Given the description of an element on the screen output the (x, y) to click on. 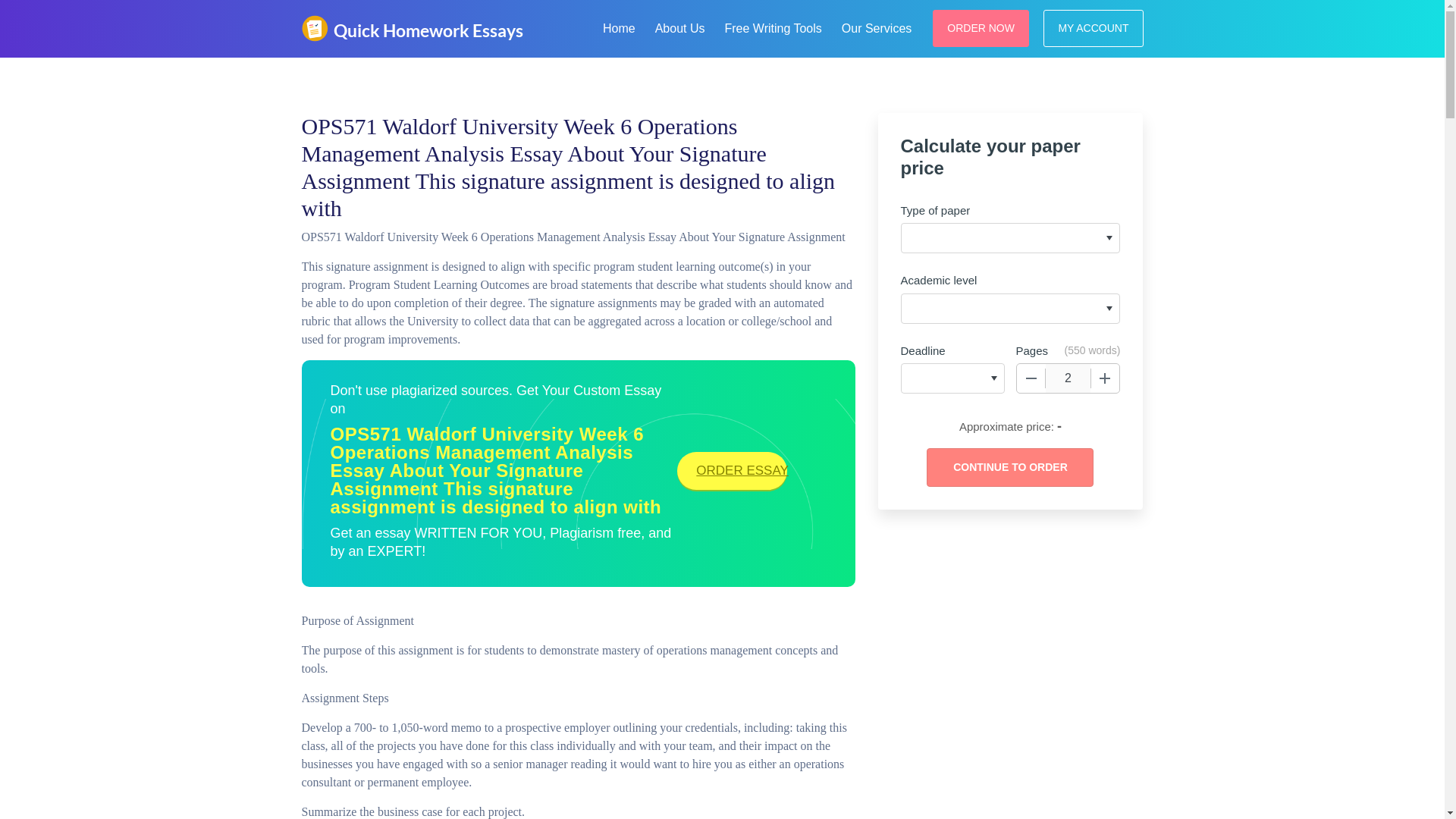
Free Writing Tools (772, 26)
Continue to order (1009, 466)
About Us (680, 26)
About Us (680, 26)
MY ACCOUNT (1092, 27)
Increase (1104, 378)
ORDER ESSAY (732, 470)
Home (619, 26)
Our Services (876, 26)
2 (1067, 378)
